Given the description of an element on the screen output the (x, y) to click on. 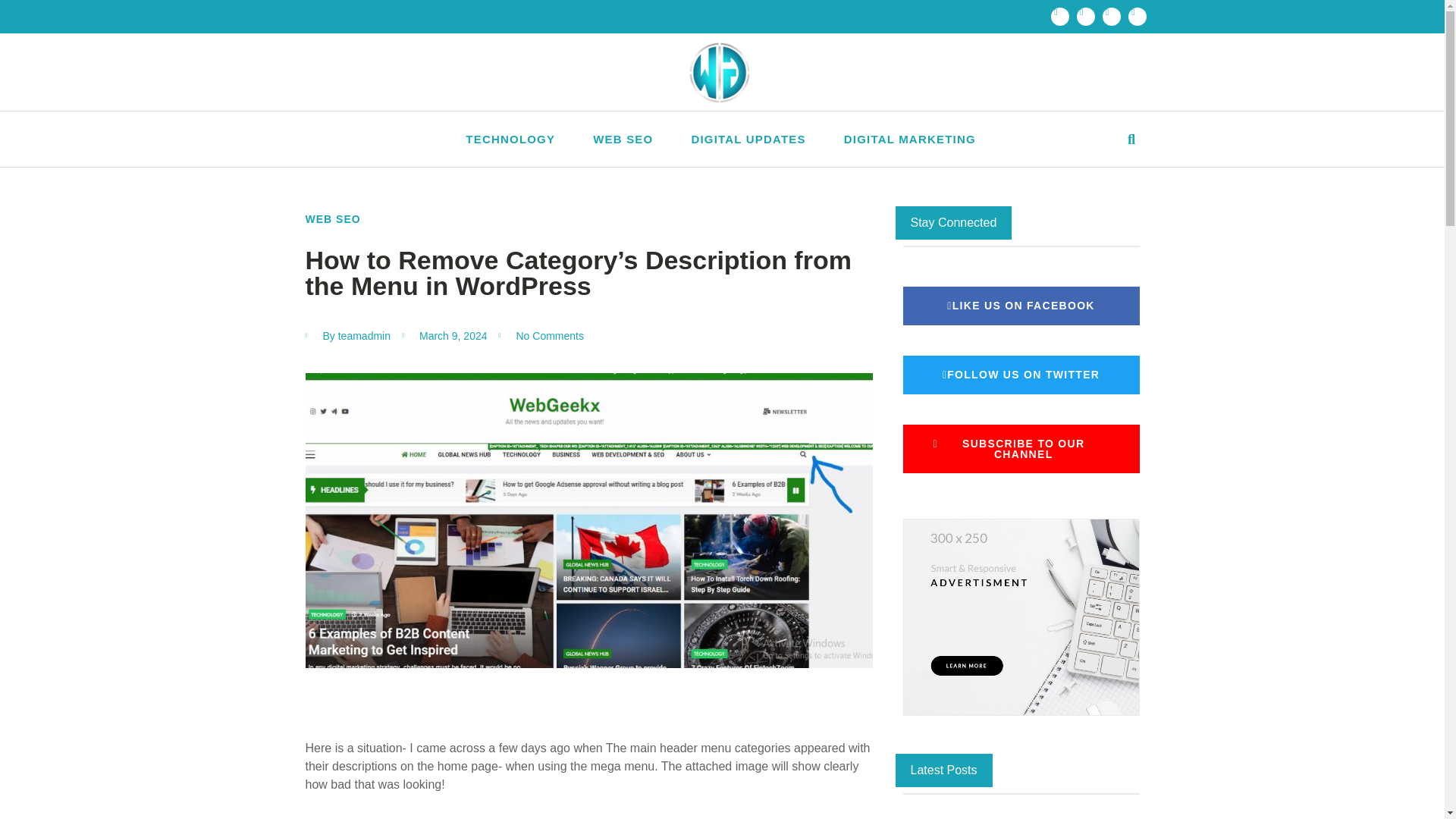
WEB SEO (622, 138)
WEB SEO (331, 218)
By teamadmin (347, 336)
Twitter (1085, 16)
DIGITAL UPDATES (747, 138)
DIGITAL MARKETING (909, 138)
Linkedin (1111, 16)
March 9, 2024 (444, 336)
Youtube (1137, 16)
TECHNOLOGY (509, 138)
Facebook (1059, 16)
